Given the description of an element on the screen output the (x, y) to click on. 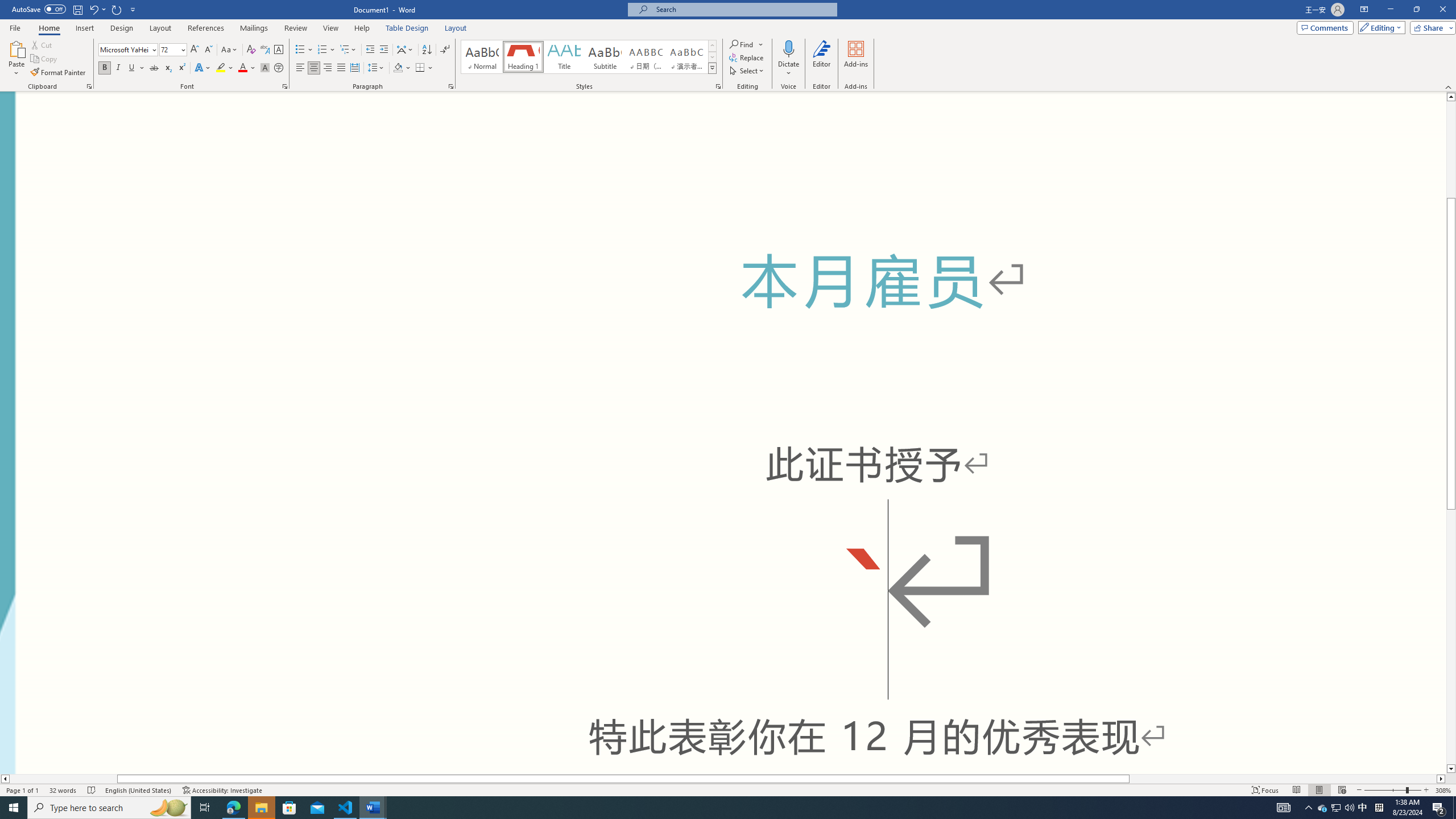
Bullets (300, 49)
Subtitle (605, 56)
Borders (424, 67)
Mailings (253, 28)
File Tab (15, 27)
Quick Access Toolbar (74, 9)
Line and Paragraph Spacing (376, 67)
Grow Font (193, 49)
Web Layout (1342, 790)
Layout (455, 28)
Phonetic Guide... (264, 49)
Design (122, 28)
Share (1430, 27)
Subscript (167, 67)
